Given the description of an element on the screen output the (x, y) to click on. 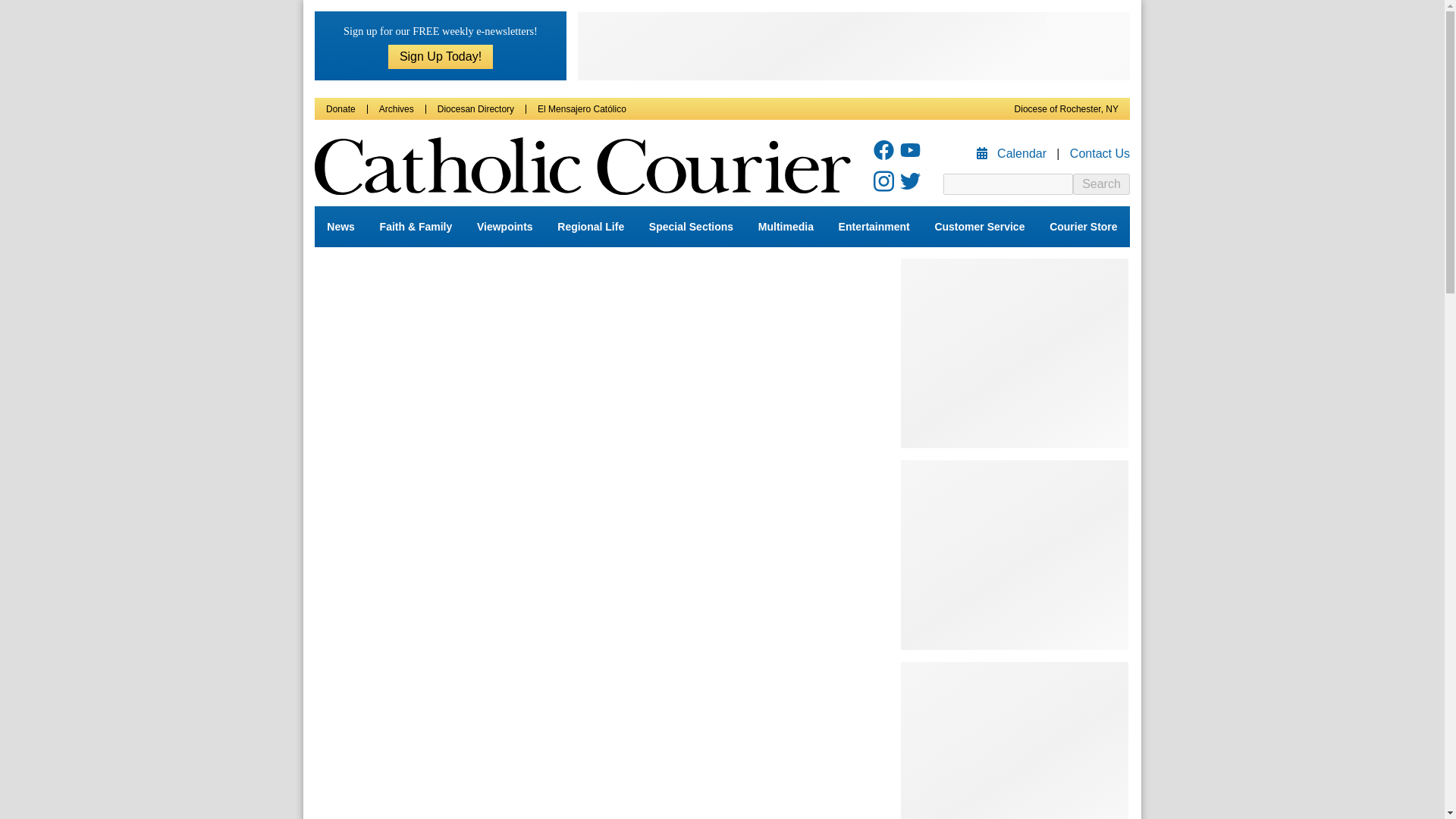
Viewpoints (504, 226)
Donate (340, 108)
Special Sections (691, 226)
Search (1101, 183)
Contact Us (1099, 153)
Sign Up Today! (440, 56)
Diocese of Rochester, NY (1066, 108)
Search (1101, 183)
Diocesan Directory (475, 108)
Archives (395, 108)
  Calendar (1012, 153)
Regional Life (590, 226)
News (340, 226)
Sunday Scripture readings, Nov. 7, 2021: A woman far away? (590, 535)
Search (1101, 183)
